Given the description of an element on the screen output the (x, y) to click on. 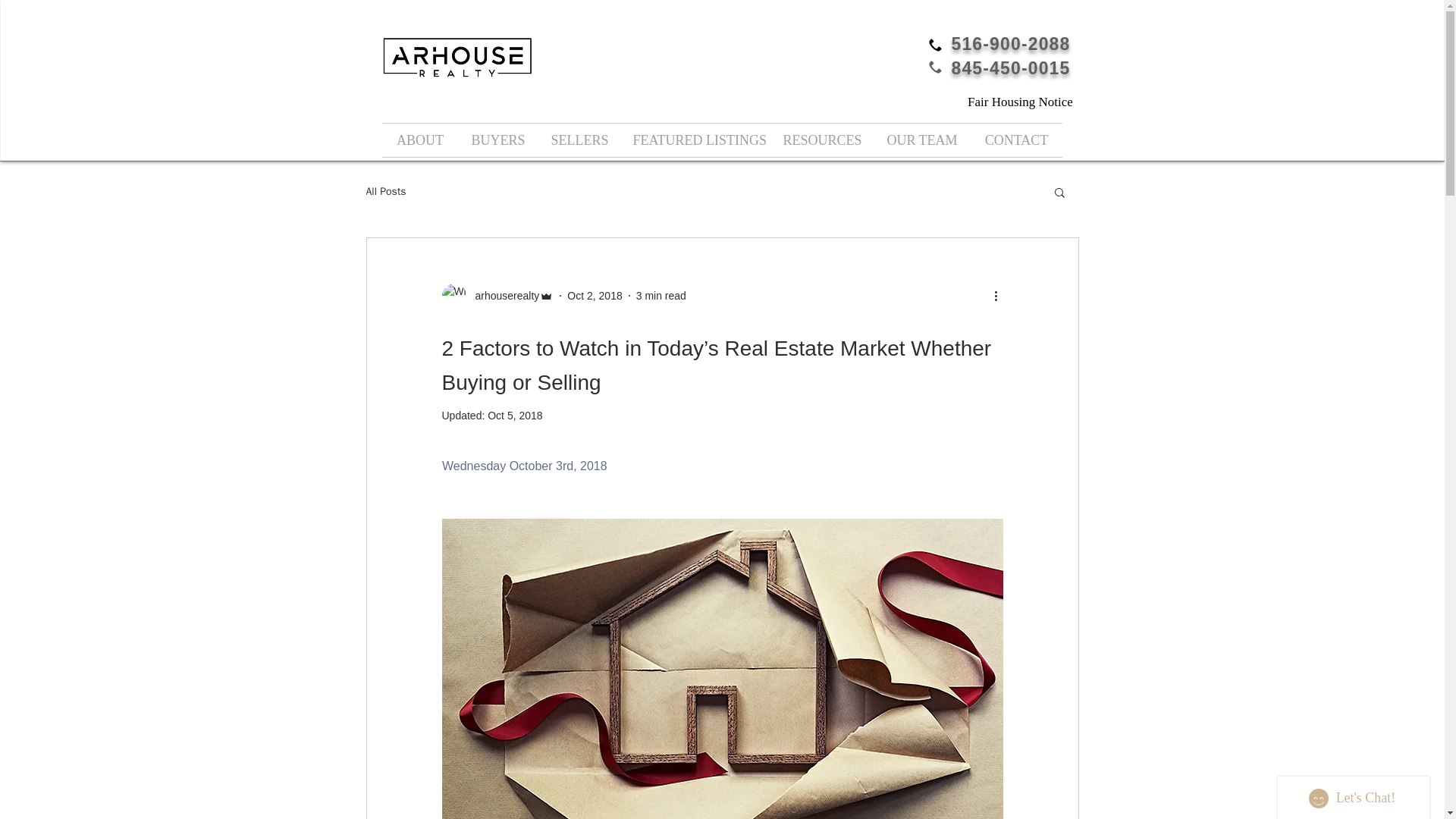
arhouserealty (501, 295)
Wednesday October 3rd, 2018 (524, 465)
SELLERS (579, 140)
ABOUT (419, 140)
Oct 2, 2018 (594, 295)
CONTACT (1016, 140)
3 min read (660, 295)
Oct 5, 2018 (514, 415)
RESOURCES (822, 140)
BUYERS (497, 140)
arhouserealty (497, 295)
All Posts (385, 192)
OUR TEAM (922, 140)
FEATURED LISTINGS (696, 140)
Fair Housing Notice (1020, 101)
